Given the description of an element on the screen output the (x, y) to click on. 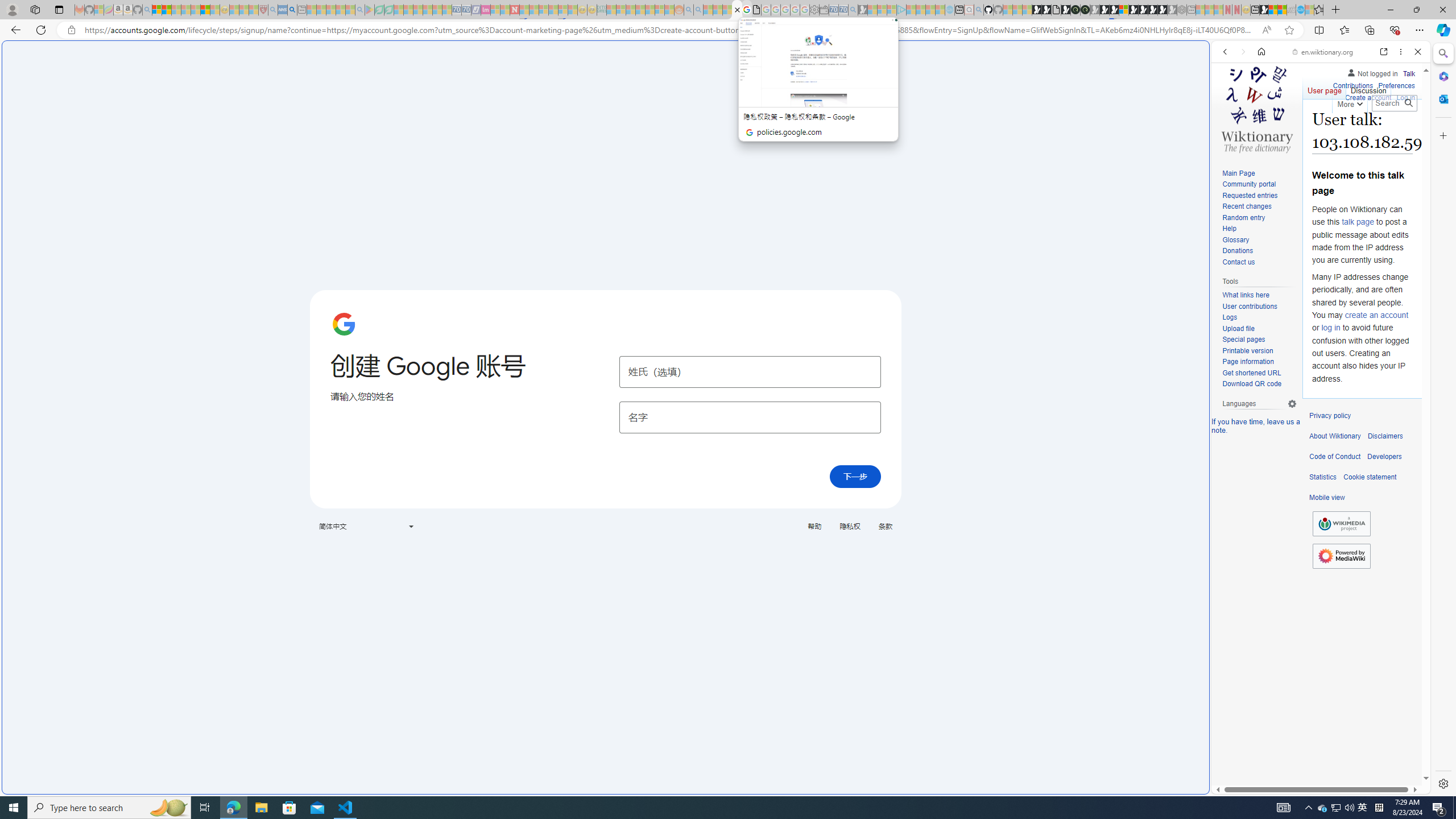
Mobile view (1326, 497)
Community portal (1248, 184)
Requested entries (1249, 194)
Disclaimers (1385, 436)
Requested entries (1259, 196)
